Given the description of an element on the screen output the (x, y) to click on. 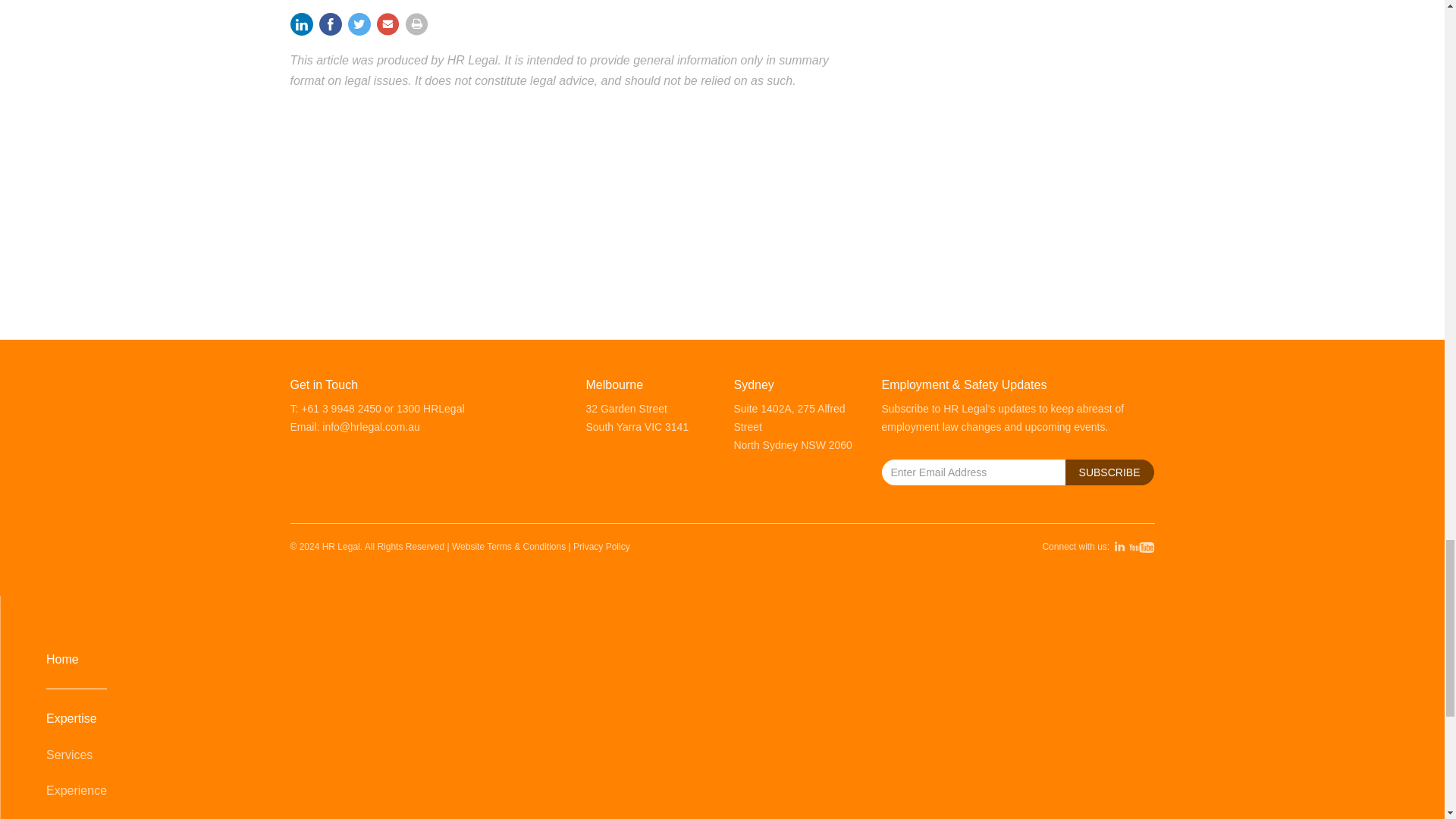
Services (722, 755)
Email (386, 25)
LinkedIn (302, 25)
Privacy Policy (601, 546)
Expertise (722, 718)
Experience (722, 790)
Home (722, 659)
1300 HRLegal (430, 408)
Twitter (357, 25)
Print (415, 25)
